Given the description of an element on the screen output the (x, y) to click on. 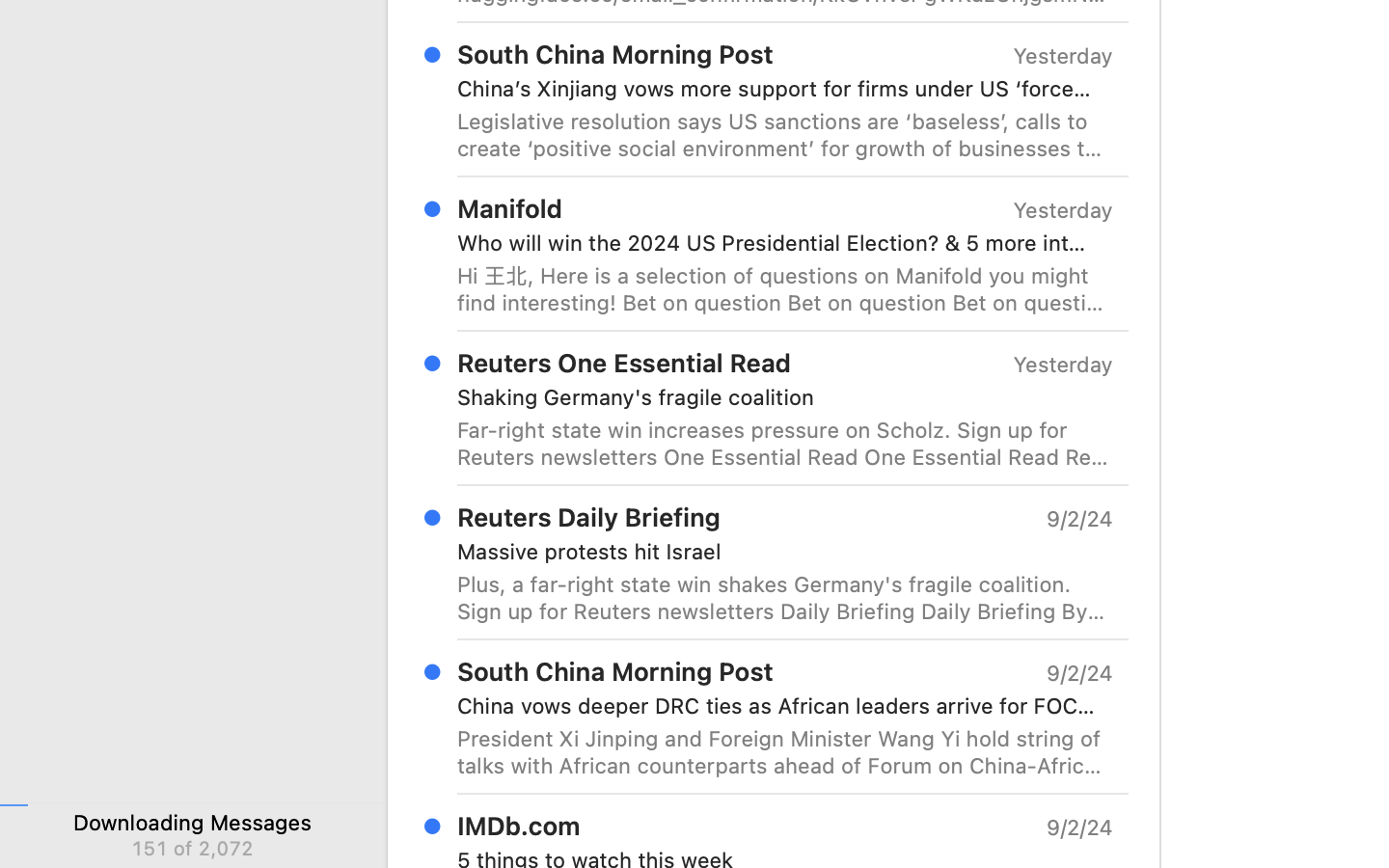
South China Morning Post Element type: AXStaticText (615, 670)
IMDb.com Element type: AXStaticText (518, 825)
China vows deeper DRC ties as African leaders arrive for FOCAC meetings Element type: AXStaticText (777, 705)
Plus, a far-right state win shakes Germany's fragile coalition. Sign up for Reuters newsletters Daily Briefing Daily Briefing By Edson Caldas Frustration is mounting over Israel's failure to secure a ceasefire deal that would free hostages. Today, we cover massive protests across the country and a general strike. Elsewhere, a far-right state win shakes Germany's fragile coalition, and a Russian missile attack rocks Kyiv and other parts of Ukraine. Plus, the latest from the Paris Paralympics. Today's Top News Hundreds of thousands protested across Israel on Sunday. REUTERS/Florion Goga War in Gaza Municipal services in several Israeli districts were disrupted today after the country's biggest labor union launched a general strike to pressure Prime Minister Benjamin Netanyahu into agreeing to a deal to bring Israeli hostages in Gaza home. Over the weekend, massive protests swept the country following the death of six hostages in Gaza. Crowds estimated by Israeli media to number up to 500 Element type: AXStaticText (784, 597)
Inbox Element type: AXStaticText (722, 732)
